Given the description of an element on the screen output the (x, y) to click on. 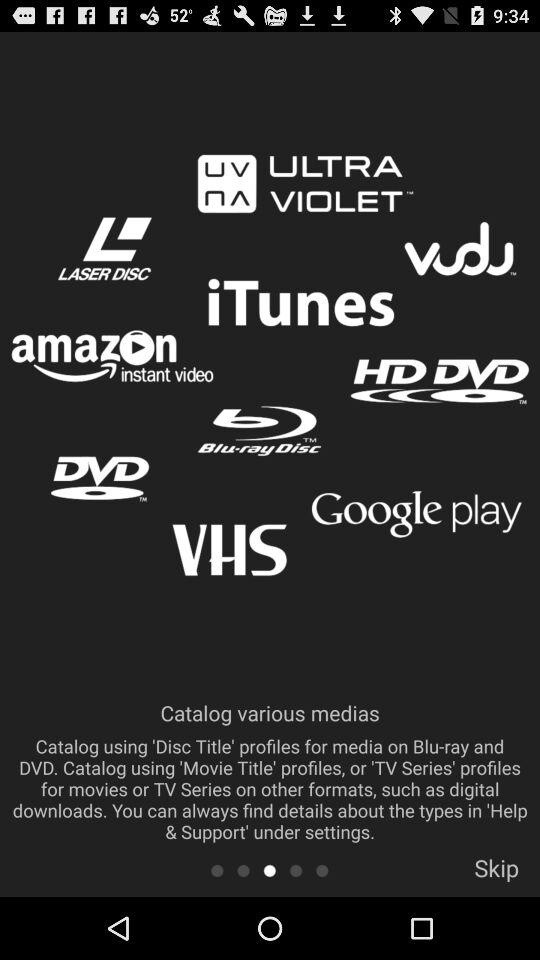
swipe until the skip item (496, 873)
